Given the description of an element on the screen output the (x, y) to click on. 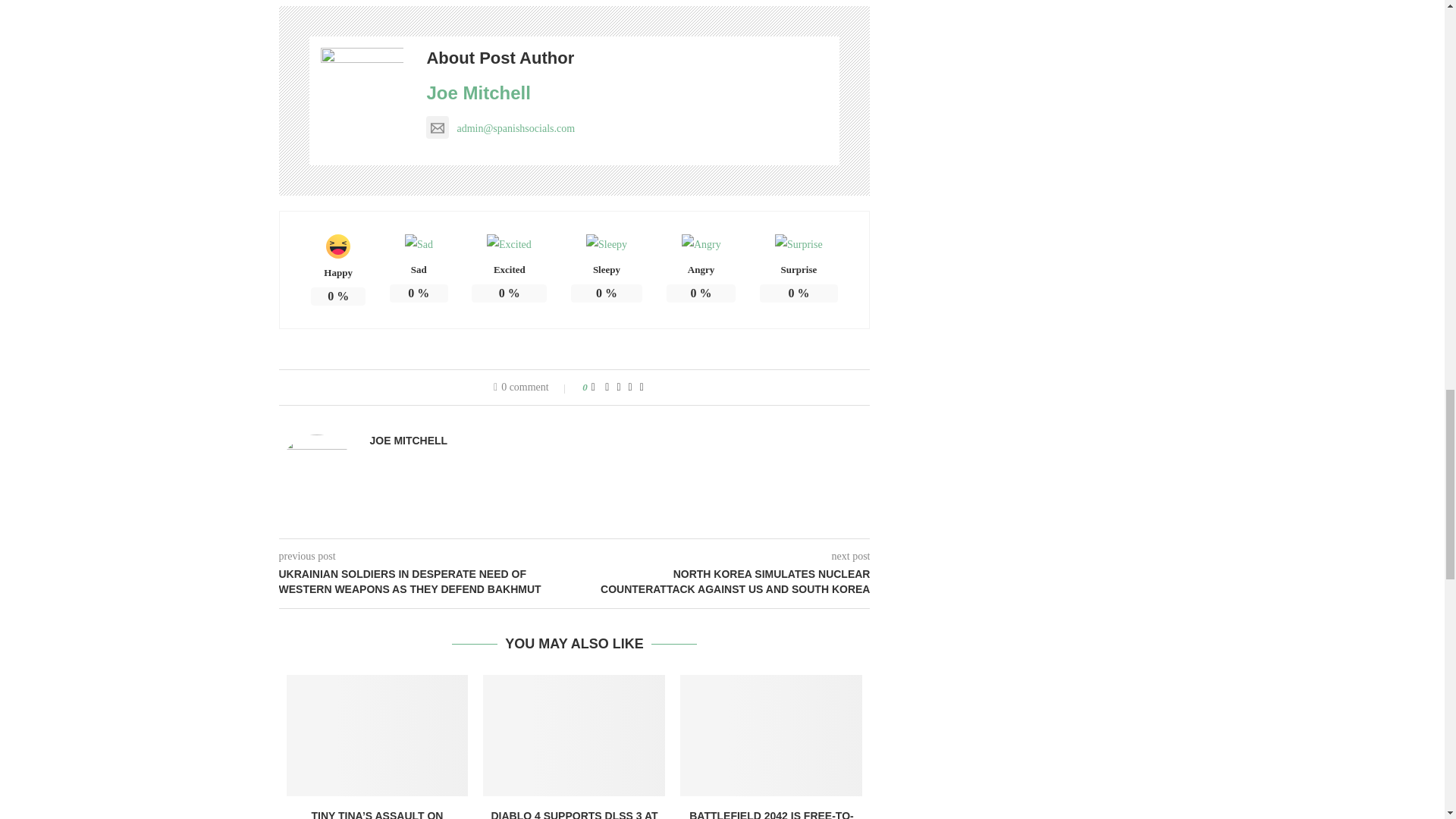
Battlefield 2042 is free-to-play on Steam this week (770, 735)
BATTLEFIELD 2042 IS FREE-TO-PLAY ON STEAM THIS WEEK (770, 814)
DIABLO 4 SUPPORTS DLSS 3 AT LAUNCH, DEVS... (574, 814)
Author Joe Mitchell (408, 440)
Joe Mitchell (477, 92)
JOE MITCHELL (408, 440)
